Given the description of an element on the screen output the (x, y) to click on. 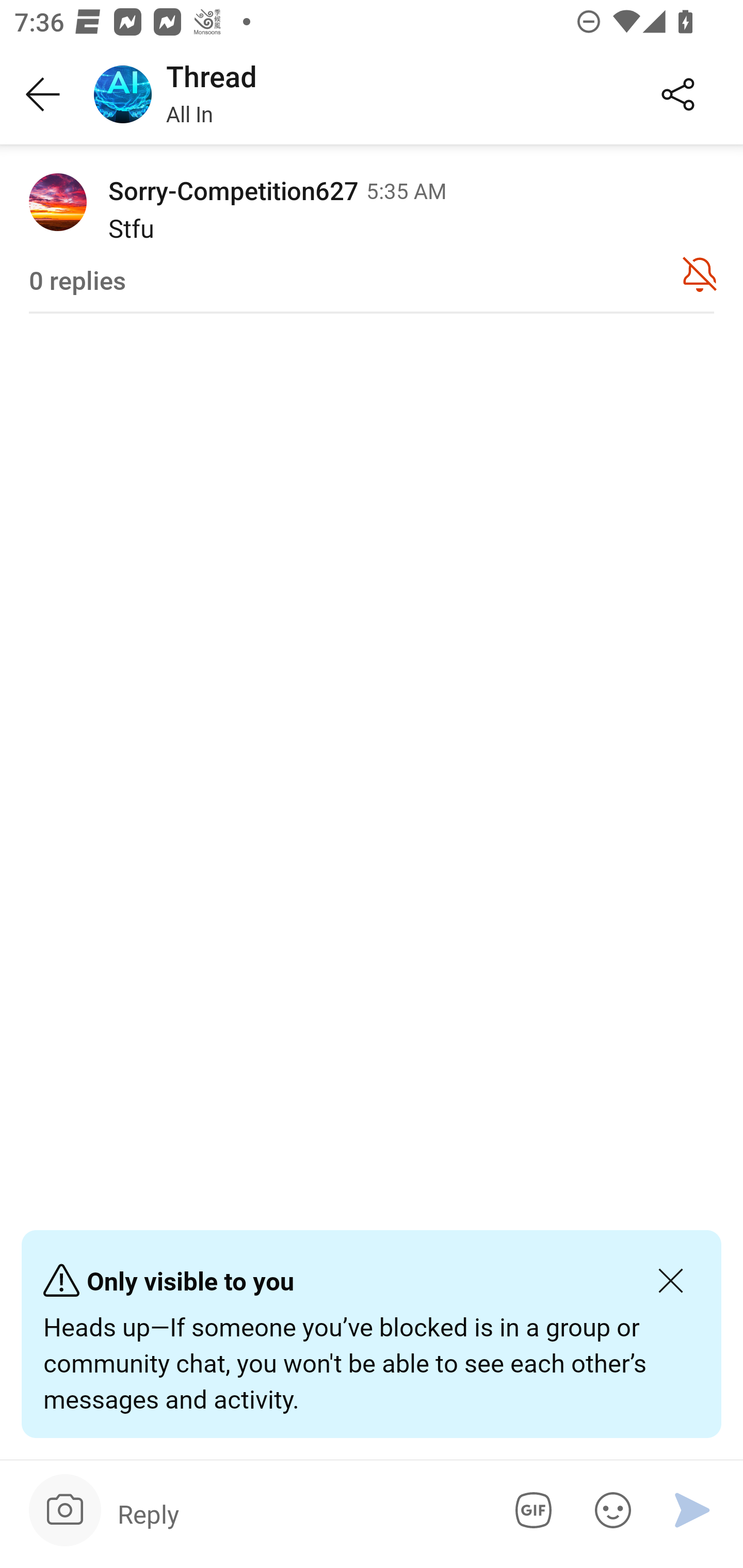
Back (43, 94)
Share (677, 94)
Unmute (699, 273)
Upload image (64, 1510)
Add GIF (529, 1510)
Add sticker (609, 1510)
Send message (692, 1510)
Message Reply (298, 1513)
